Given the description of an element on the screen output the (x, y) to click on. 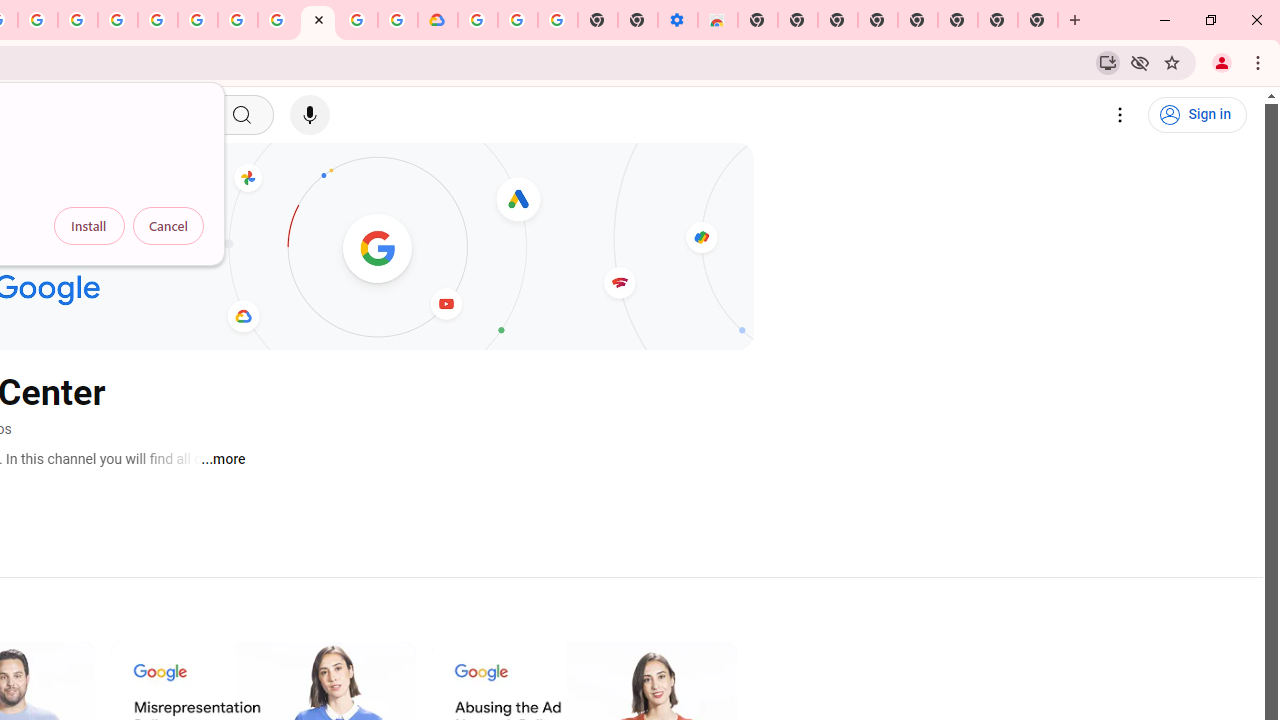
Install (89, 225)
Create your Google Account (37, 20)
Cancel (168, 225)
Google Account Help (237, 20)
Browse the Google Chrome Community - Google Chrome Community (397, 20)
New Tab (758, 20)
Search with your voice (309, 115)
Create your Google Account (357, 20)
Settings (1119, 115)
